Given the description of an element on the screen output the (x, y) to click on. 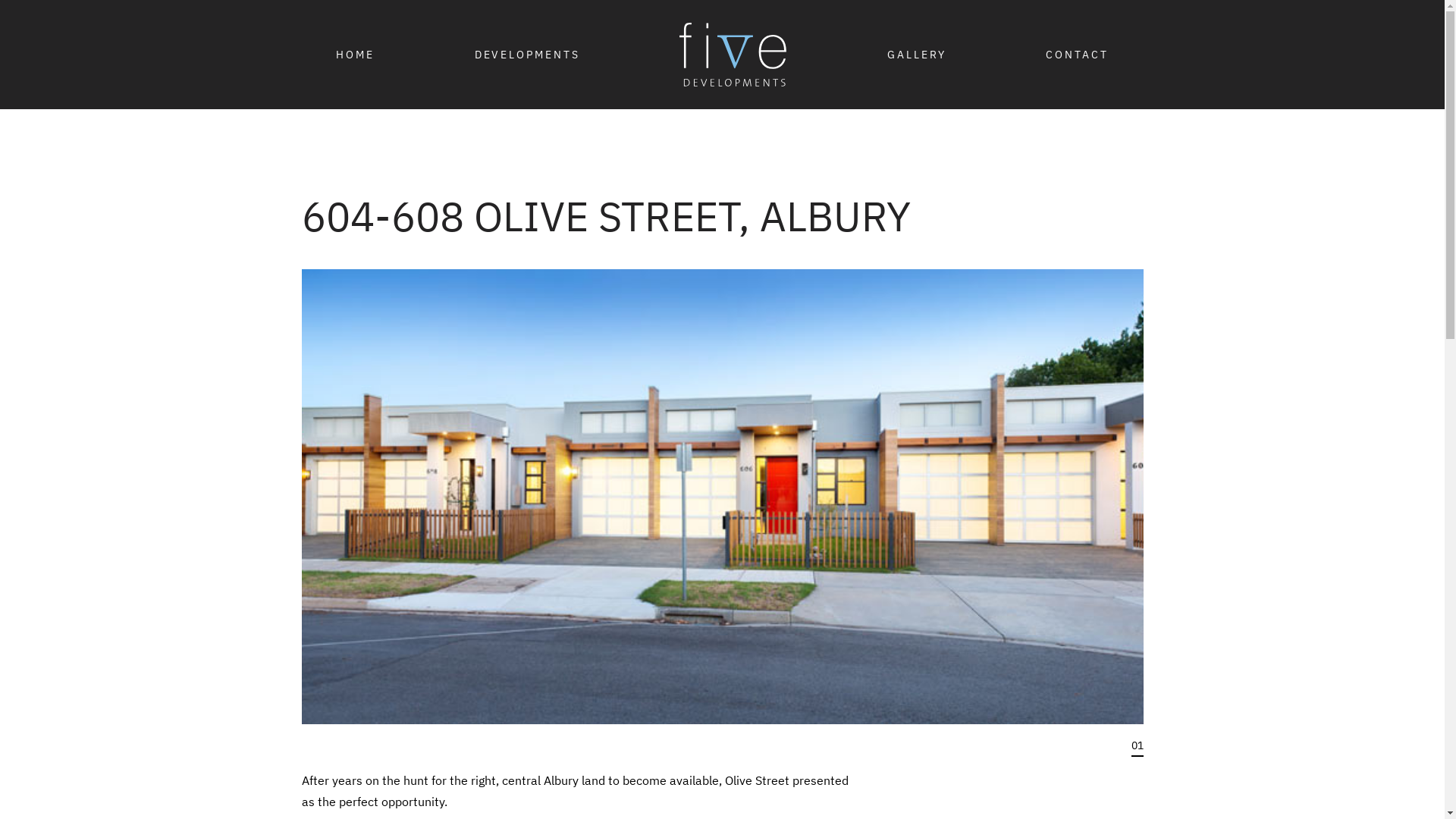
HOME Element type: text (354, 54)
DEVELOPMENTS Element type: text (527, 54)
CONTACT Element type: text (1076, 54)
GALLERY Element type: text (916, 54)
